Given the description of an element on the screen output the (x, y) to click on. 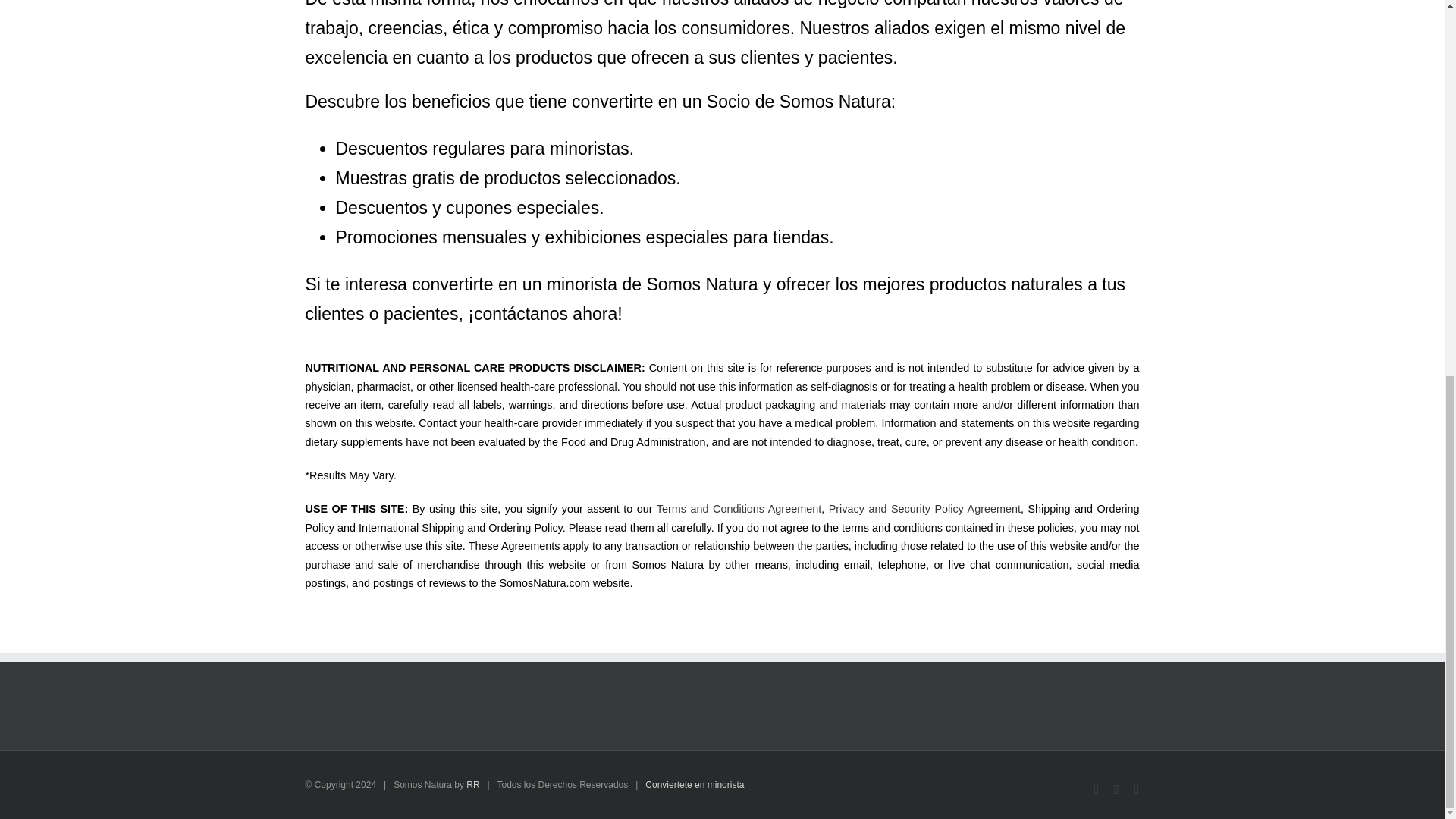
RR (472, 784)
Conviertete en minorista (694, 784)
Terms and Conditions Agreement (738, 508)
Privacy and Security Policy Agreement (924, 508)
